Given the description of an element on the screen output the (x, y) to click on. 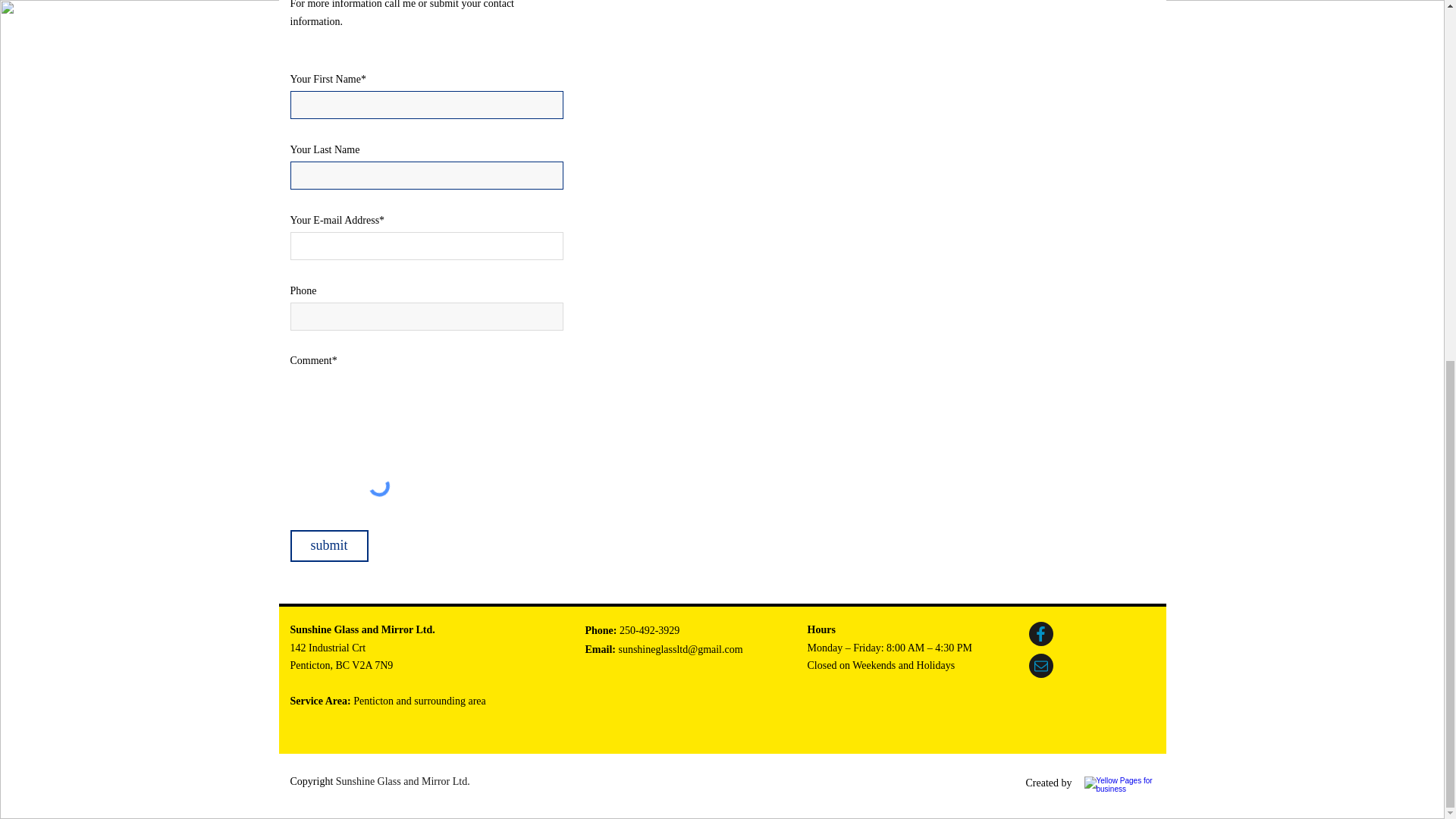
submit (328, 545)
Sunshine Glass and Mirror Ltd. (403, 781)
